Given the description of an element on the screen output the (x, y) to click on. 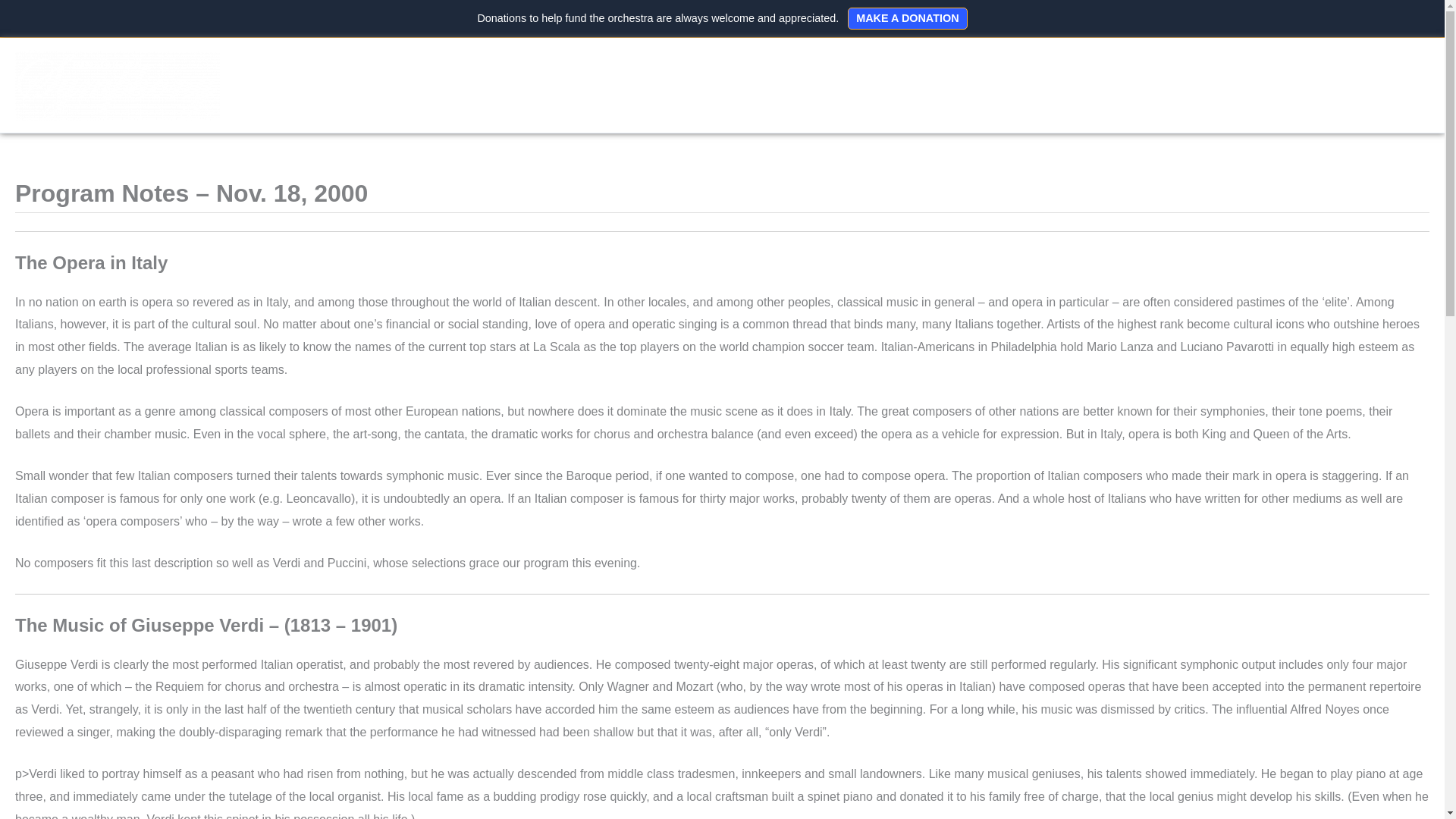
Contact (1224, 84)
Concert Schedule (913, 84)
MAKE A DONATION (906, 18)
The Orchestra (1133, 84)
Home (825, 84)
Directions (1382, 84)
Donors (1296, 84)
Our History (1025, 84)
